Given the description of an element on the screen output the (x, y) to click on. 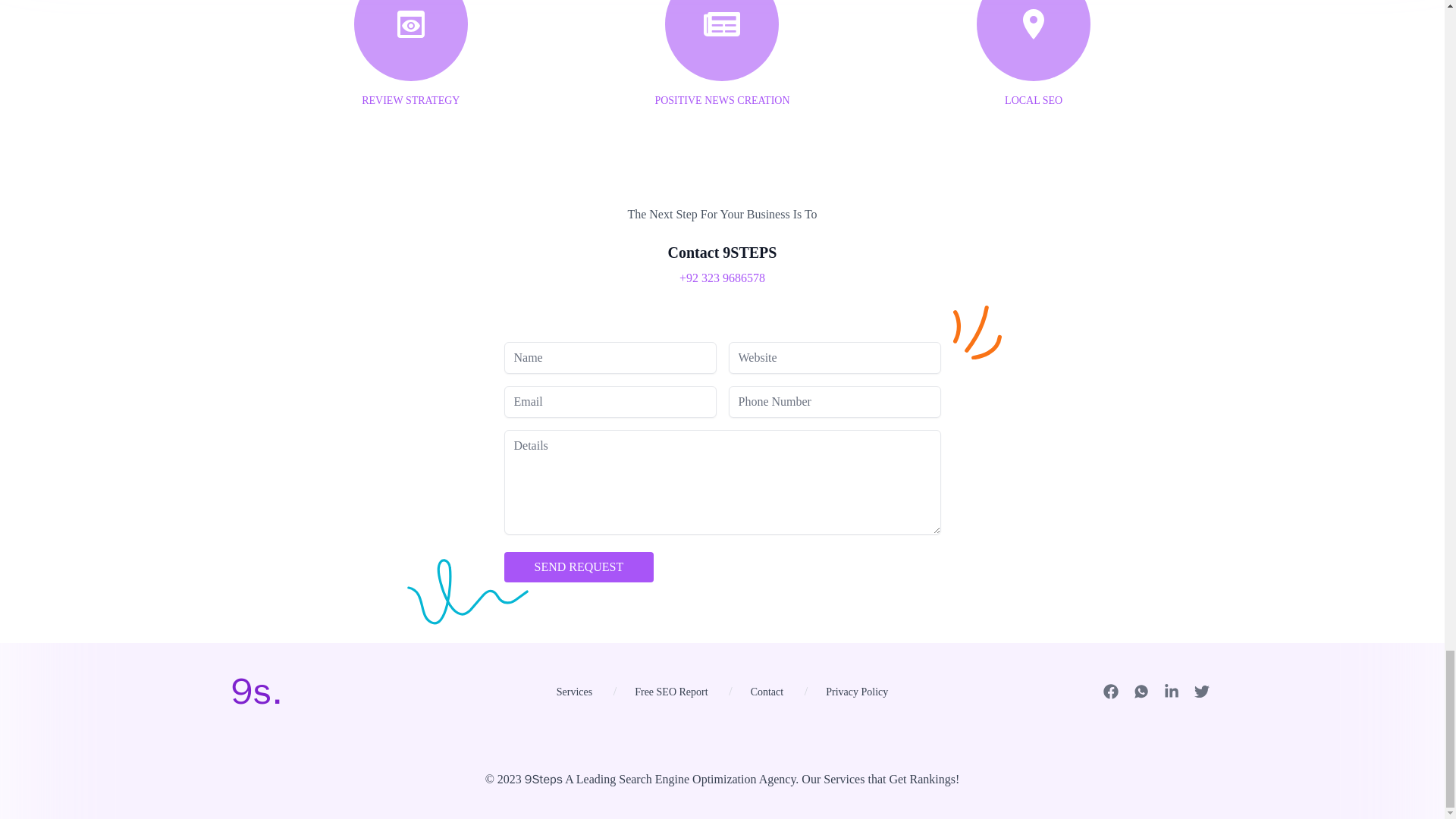
Contact (767, 692)
WhatsApp (1140, 690)
Services (574, 692)
Facebook (1109, 690)
Twitter (1200, 690)
LinkedIn (1170, 690)
SEND REQUEST (578, 567)
LinkedIn (1170, 690)
Privacy Policy (856, 692)
WhatsApp (1140, 690)
9s. (256, 691)
Twitter (1200, 690)
Free SEO Report (671, 692)
Facebook (1109, 690)
